Given the description of an element on the screen output the (x, y) to click on. 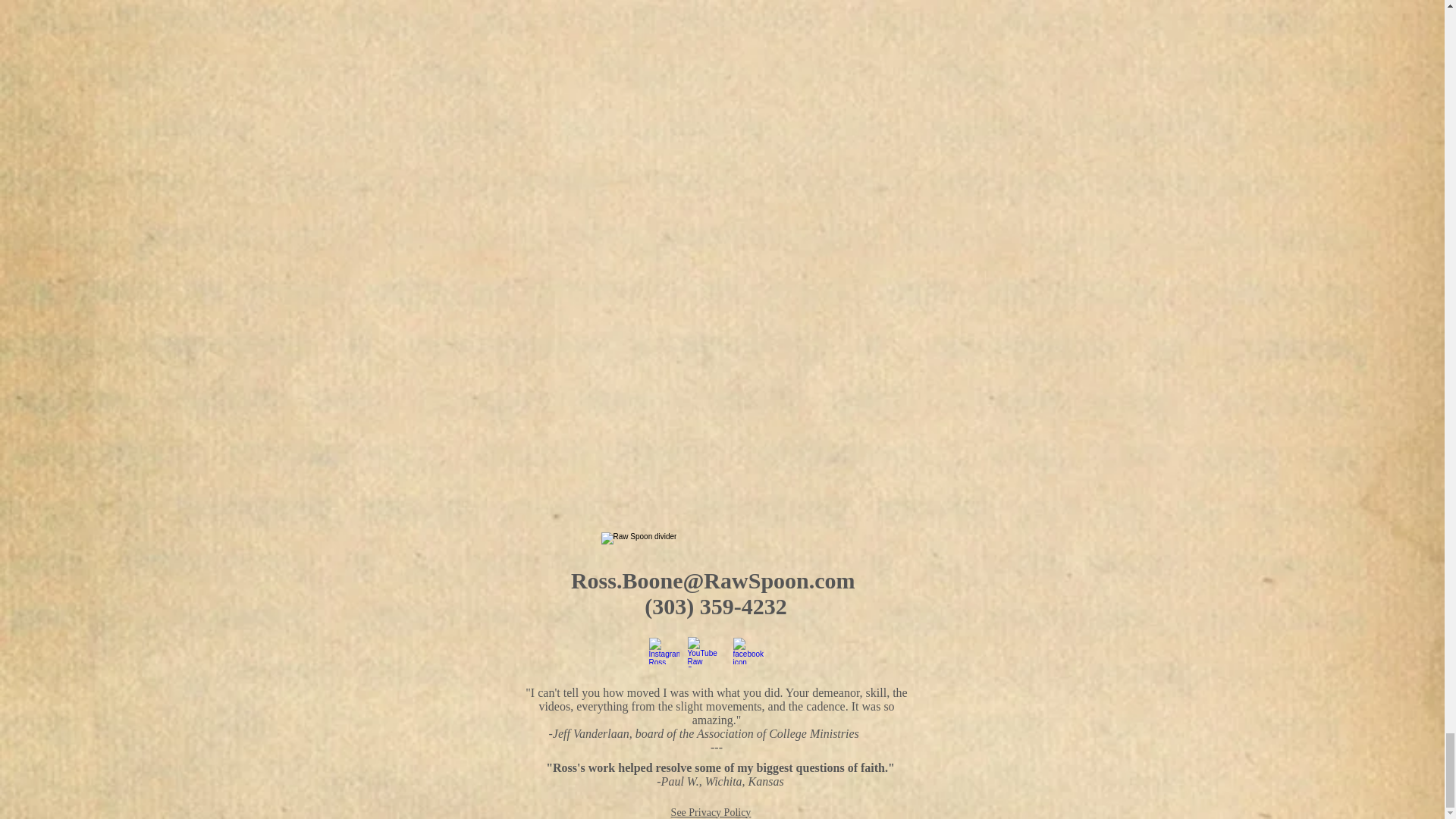
YouTube channel (706, 651)
See Privacy Policy (711, 811)
Instagram page (664, 651)
